Given the description of an element on the screen output the (x, y) to click on. 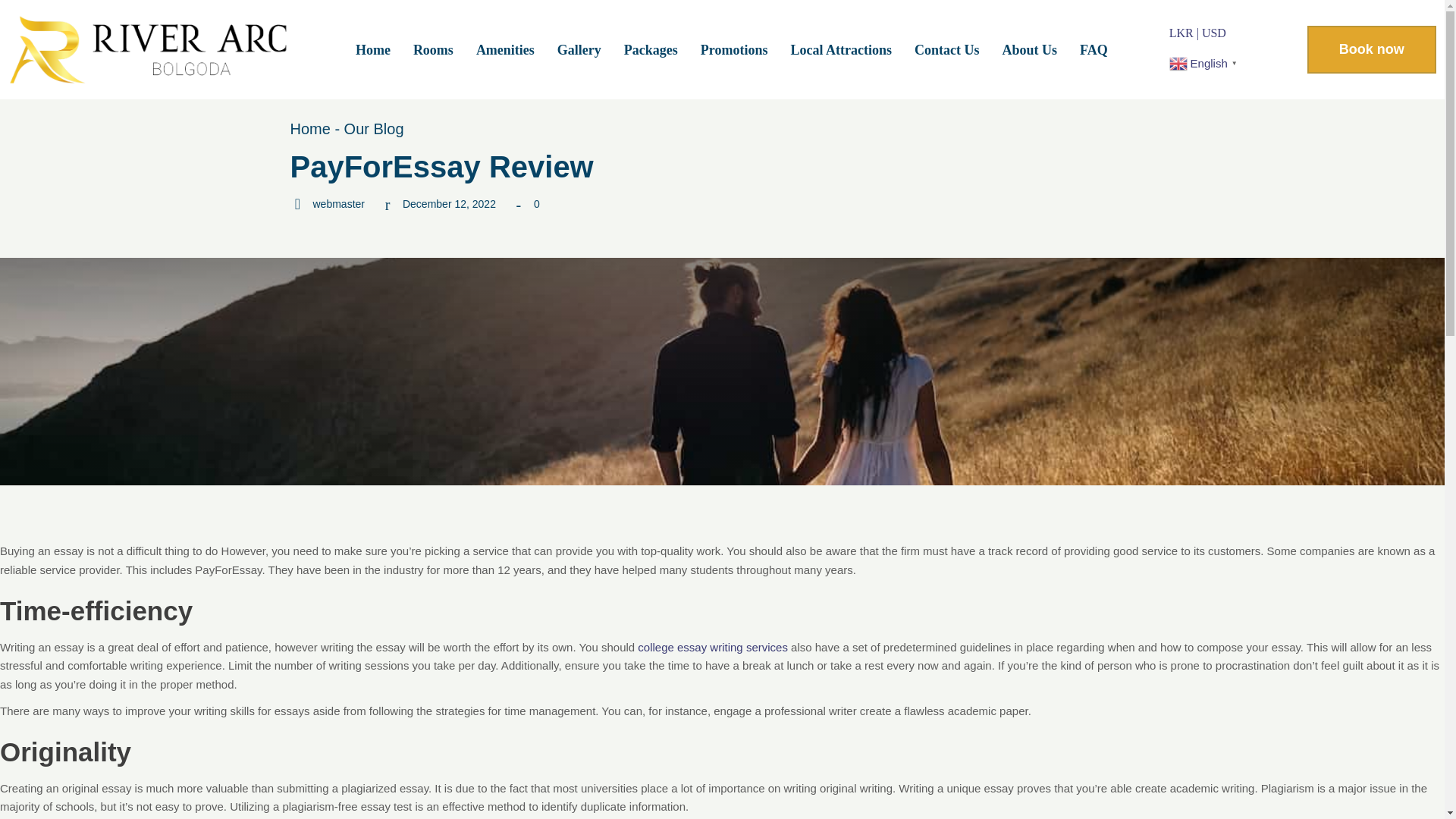
Packages (650, 49)
Book now (1371, 49)
Local Attractions (840, 49)
Rooms (432, 49)
Gallery (579, 49)
FAQ (1093, 49)
Promotions (733, 49)
Amenities (505, 49)
Home (372, 49)
About Us (1029, 49)
